Given the description of an element on the screen output the (x, y) to click on. 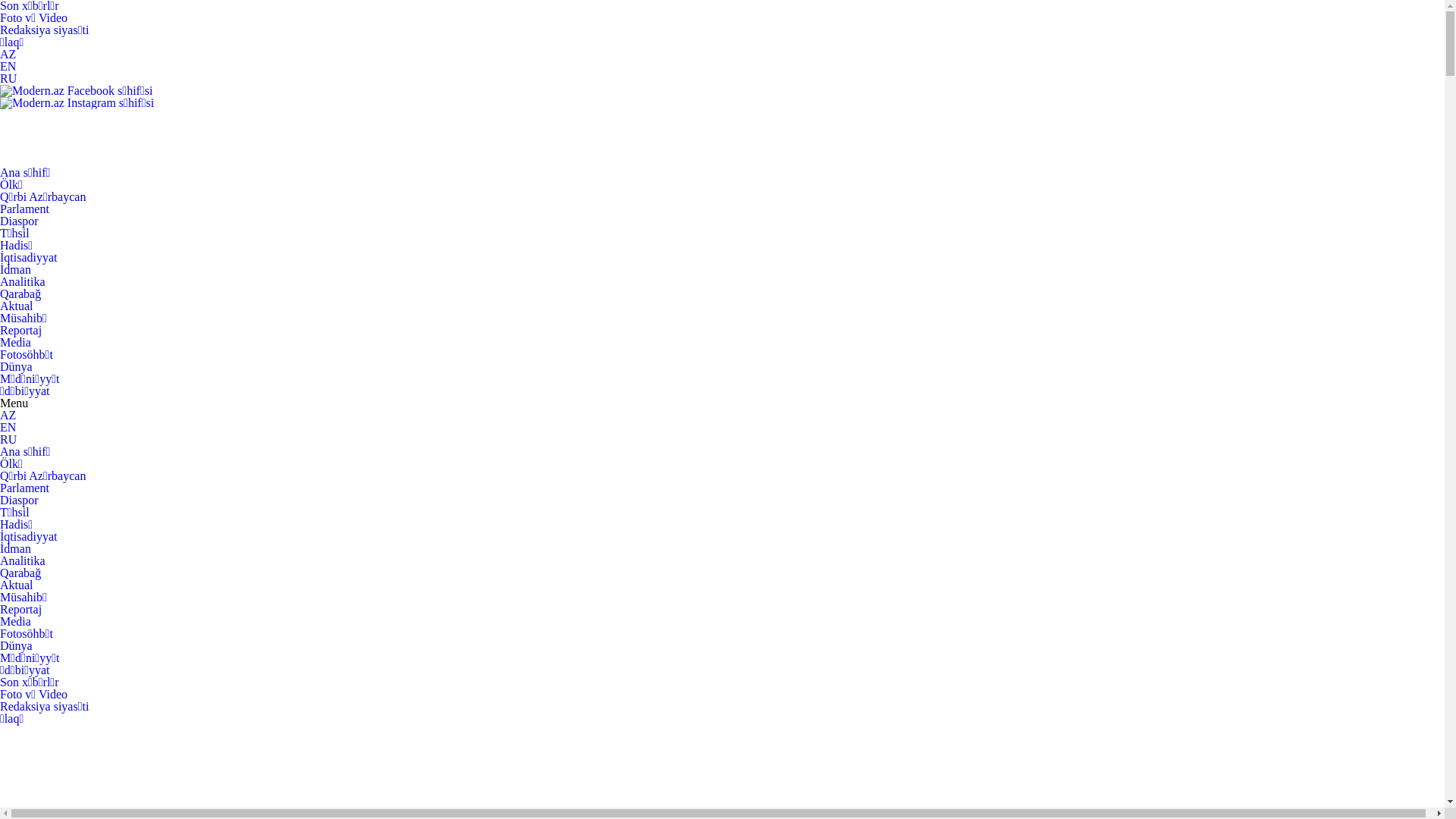
Reportaj Element type: text (20, 329)
RU Element type: text (8, 78)
Diaspor Element type: text (19, 220)
EN Element type: text (7, 65)
Parlament Element type: text (24, 208)
Aktual Element type: text (16, 584)
AZ Element type: text (7, 53)
RU Element type: text (8, 439)
Media Element type: text (15, 621)
Aktual Element type: text (16, 305)
EN Element type: text (7, 426)
Analitika Element type: text (22, 560)
Analitika Element type: text (22, 281)
Diaspor Element type: text (19, 499)
AZ Element type: text (7, 414)
Reportaj Element type: text (20, 608)
Media Element type: text (15, 341)
Parlament Element type: text (24, 487)
